Given the description of an element on the screen output the (x, y) to click on. 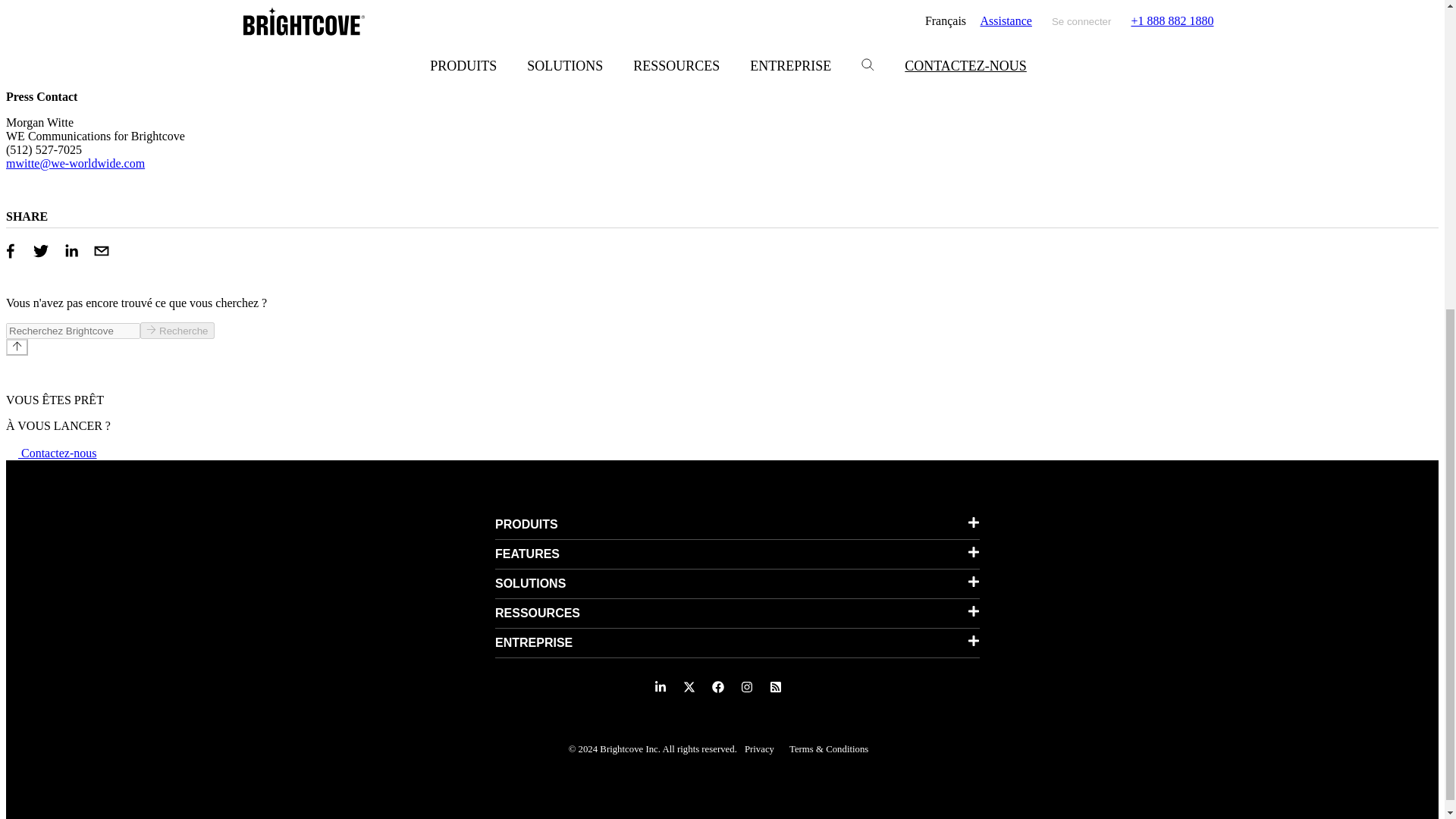
Recherche (176, 330)
FEATURES (737, 553)
PRODUITS (737, 524)
Contactez-nous (51, 452)
